Given the description of an element on the screen output the (x, y) to click on. 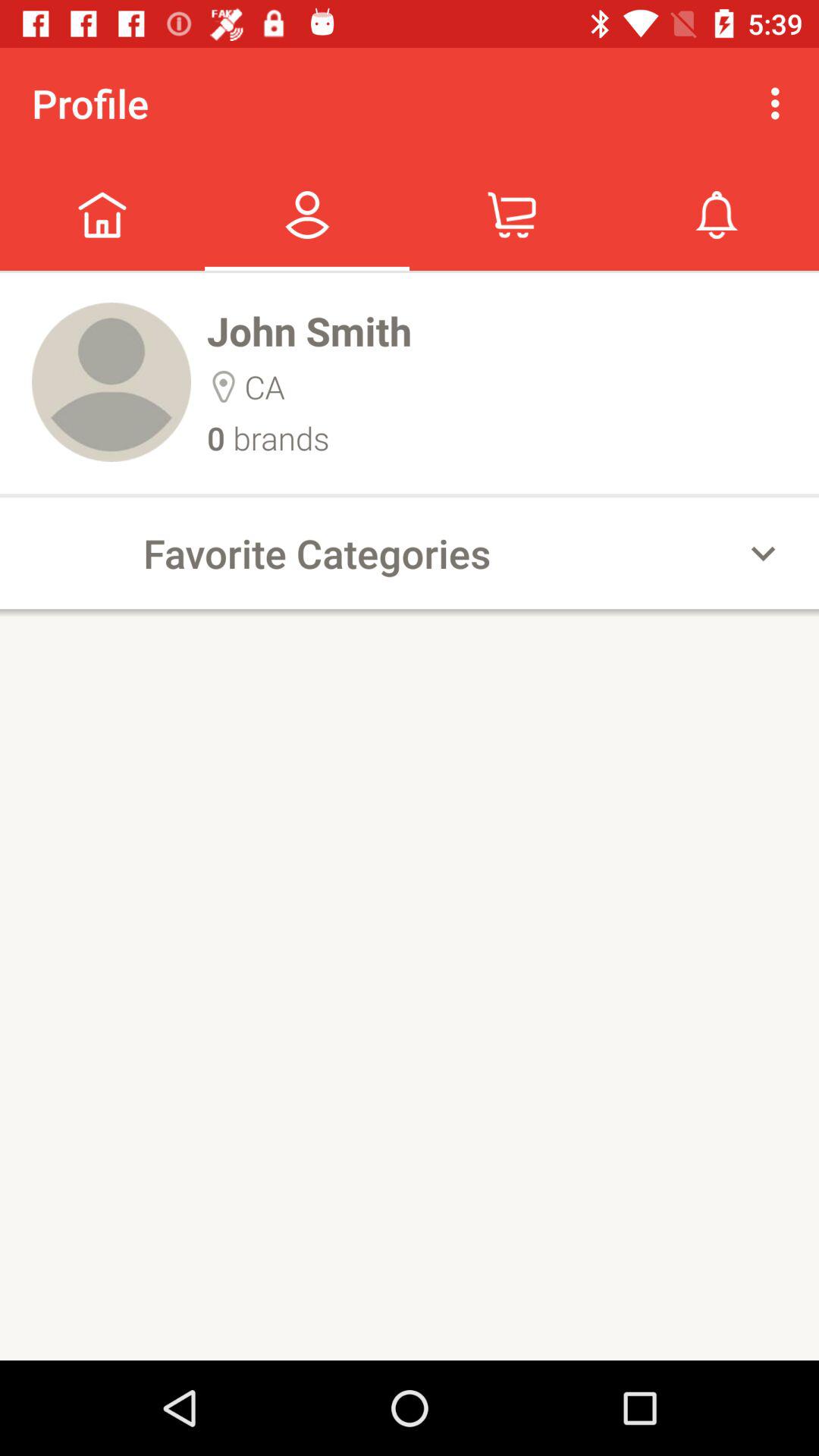
choose item to the right of the profile icon (779, 103)
